Given the description of an element on the screen output the (x, y) to click on. 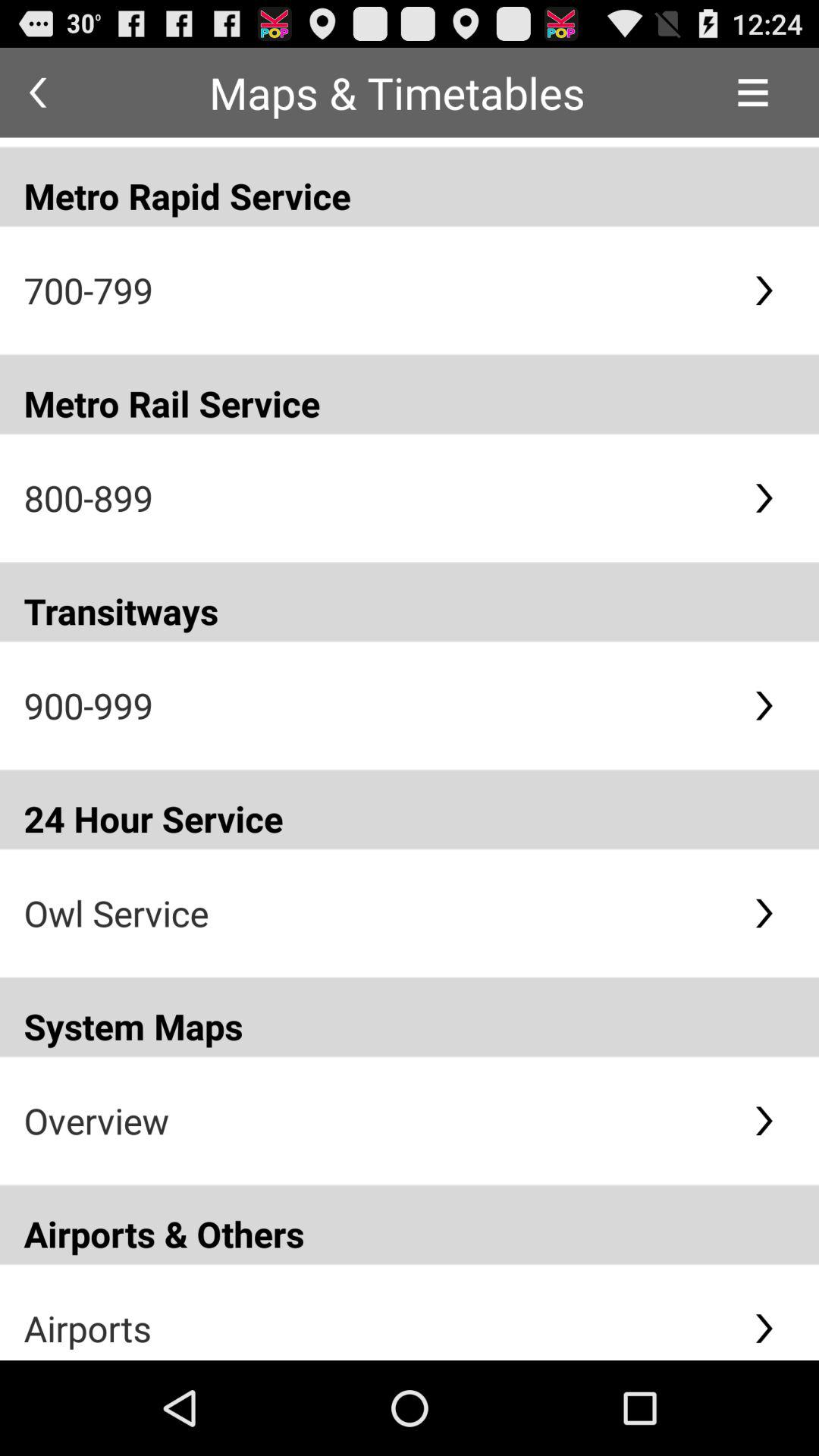
flip to the transitways app (409, 601)
